Given the description of an element on the screen output the (x, y) to click on. 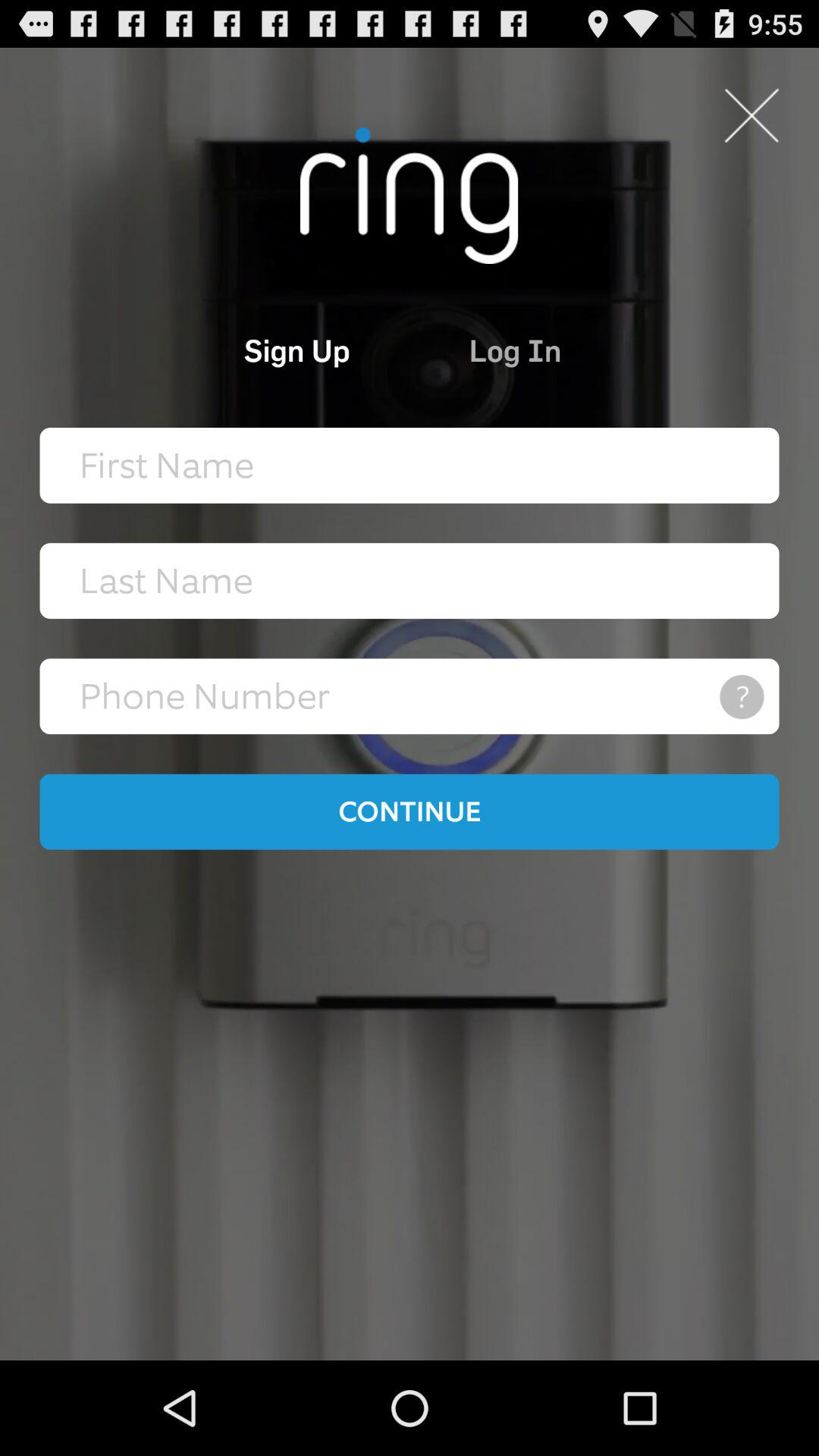
flip to sign up icon (234, 349)
